Given the description of an element on the screen output the (x, y) to click on. 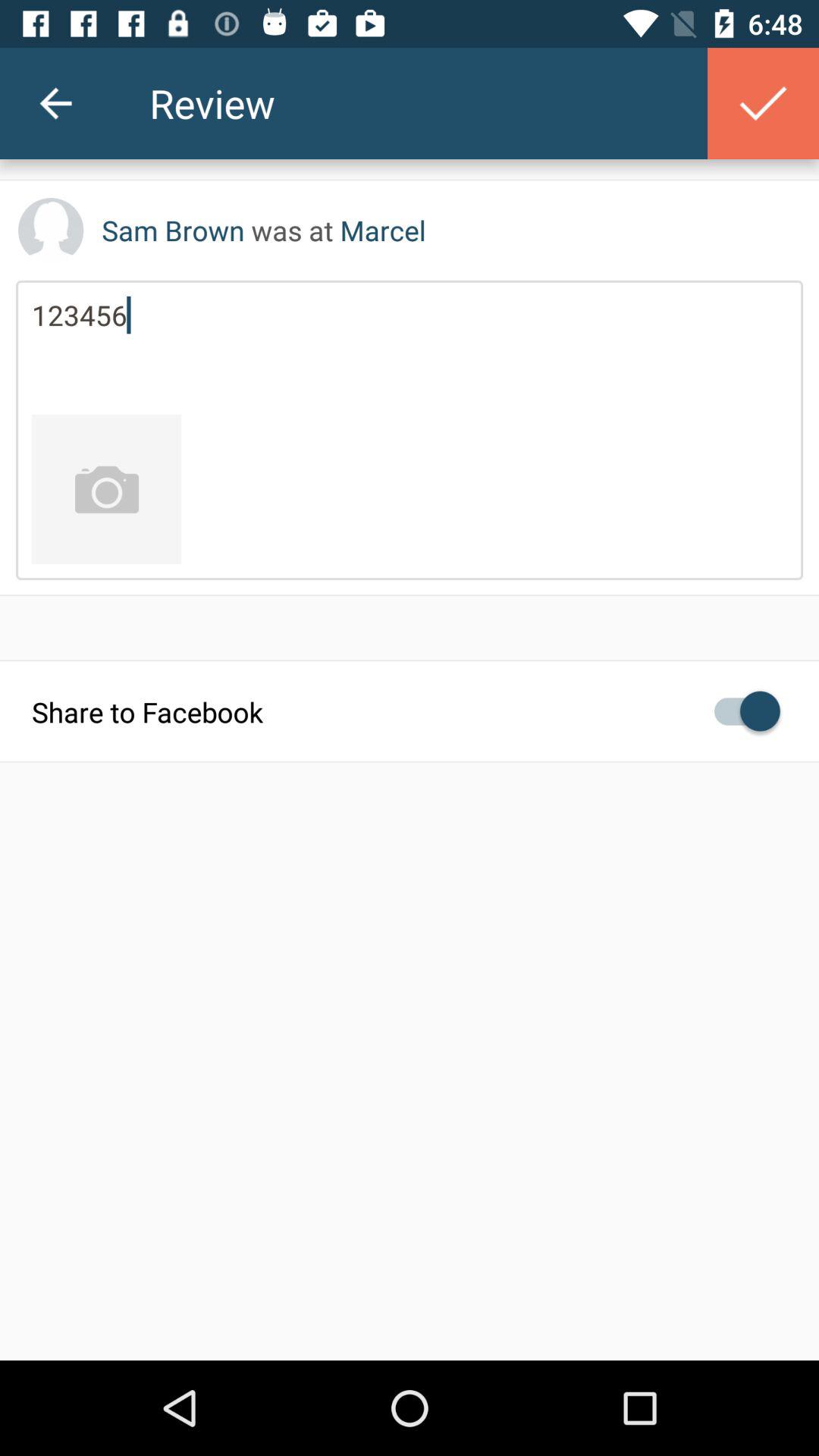
launch the item at the top right corner (763, 103)
